Given the description of an element on the screen output the (x, y) to click on. 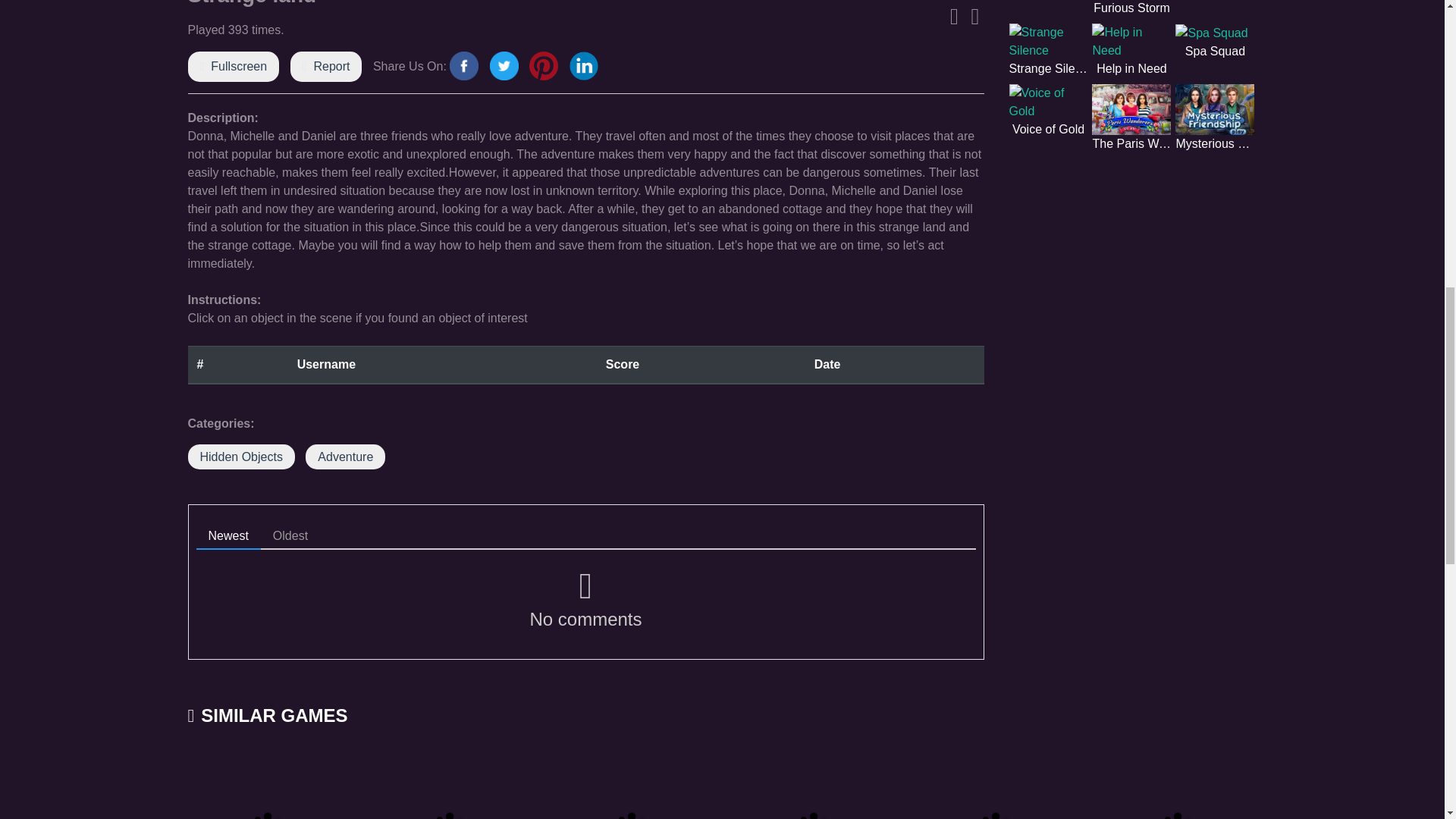
Report (331, 65)
Fullscreen (238, 65)
Furious Storm (1131, 8)
Clockwork Intrigue (1213, 1)
Yard Sale Tips (266, 784)
Spa Squad (1213, 41)
The Paris Wanderers (1131, 118)
Diamond Island (630, 784)
Icy Winter (994, 784)
Help in Need (1131, 50)
The Sacred Temple (812, 784)
Hidden Objects (241, 456)
The Crime Hunter (1048, 1)
Strange Silence (1048, 50)
Old Texas Farm (1176, 784)
